Given the description of an element on the screen output the (x, y) to click on. 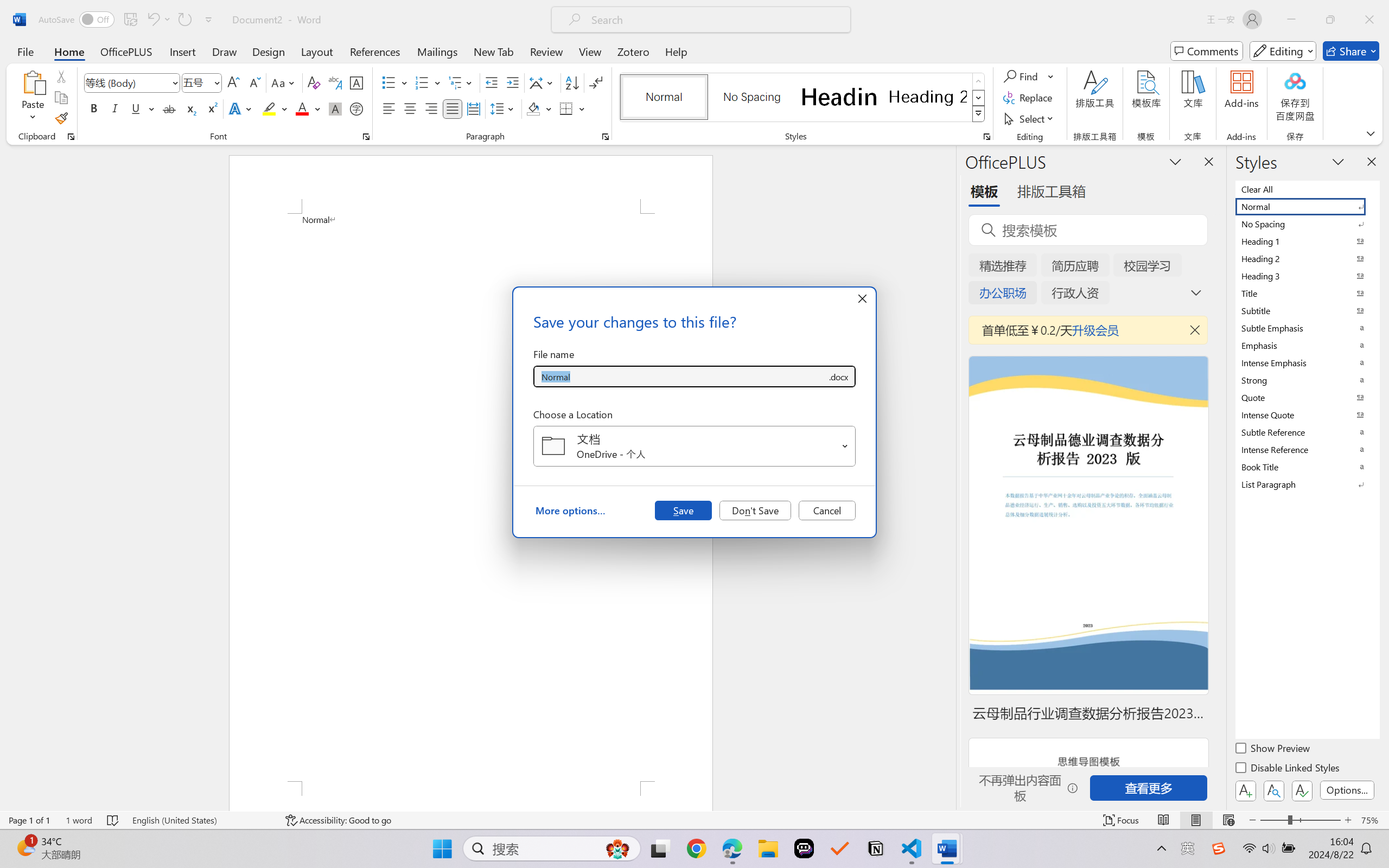
Line and Paragraph Spacing (503, 108)
Class: NetUIScrollBar (948, 477)
Font Color Red (302, 108)
Replace... (1029, 97)
Align Left (388, 108)
Page Number Page 1 of 1 (29, 819)
Quick Access Toolbar (127, 19)
Intense Reference (1306, 449)
Zoom (1300, 819)
Asian Layout (542, 82)
Grow Font (233, 82)
Superscript (210, 108)
